Given the description of an element on the screen output the (x, y) to click on. 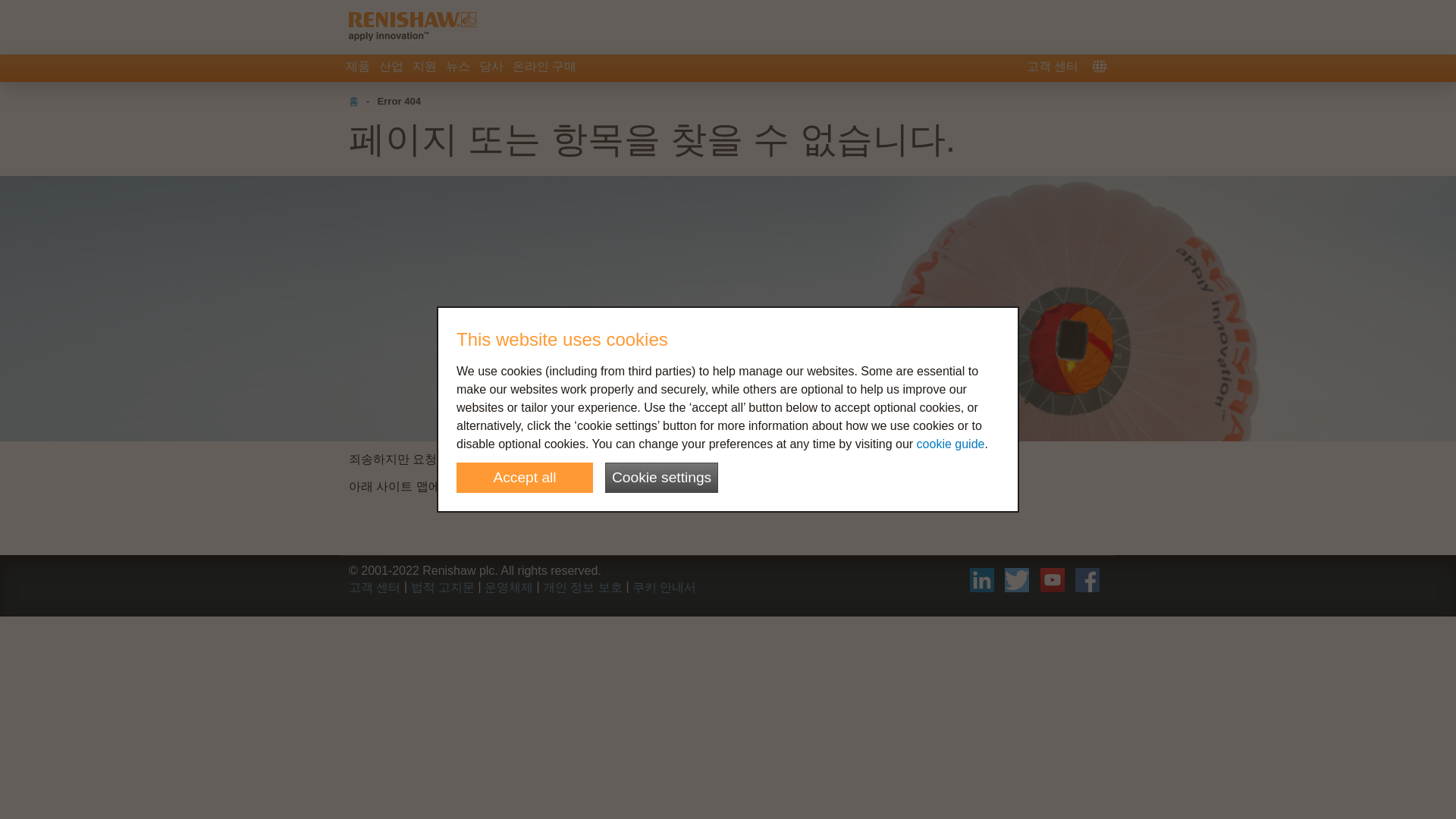
cookie guide (951, 443)
Cookie settings (661, 477)
www.renishaw.com (543, 459)
www.renishaw.com (543, 459)
Accept all (524, 477)
